Given the description of an element on the screen output the (x, y) to click on. 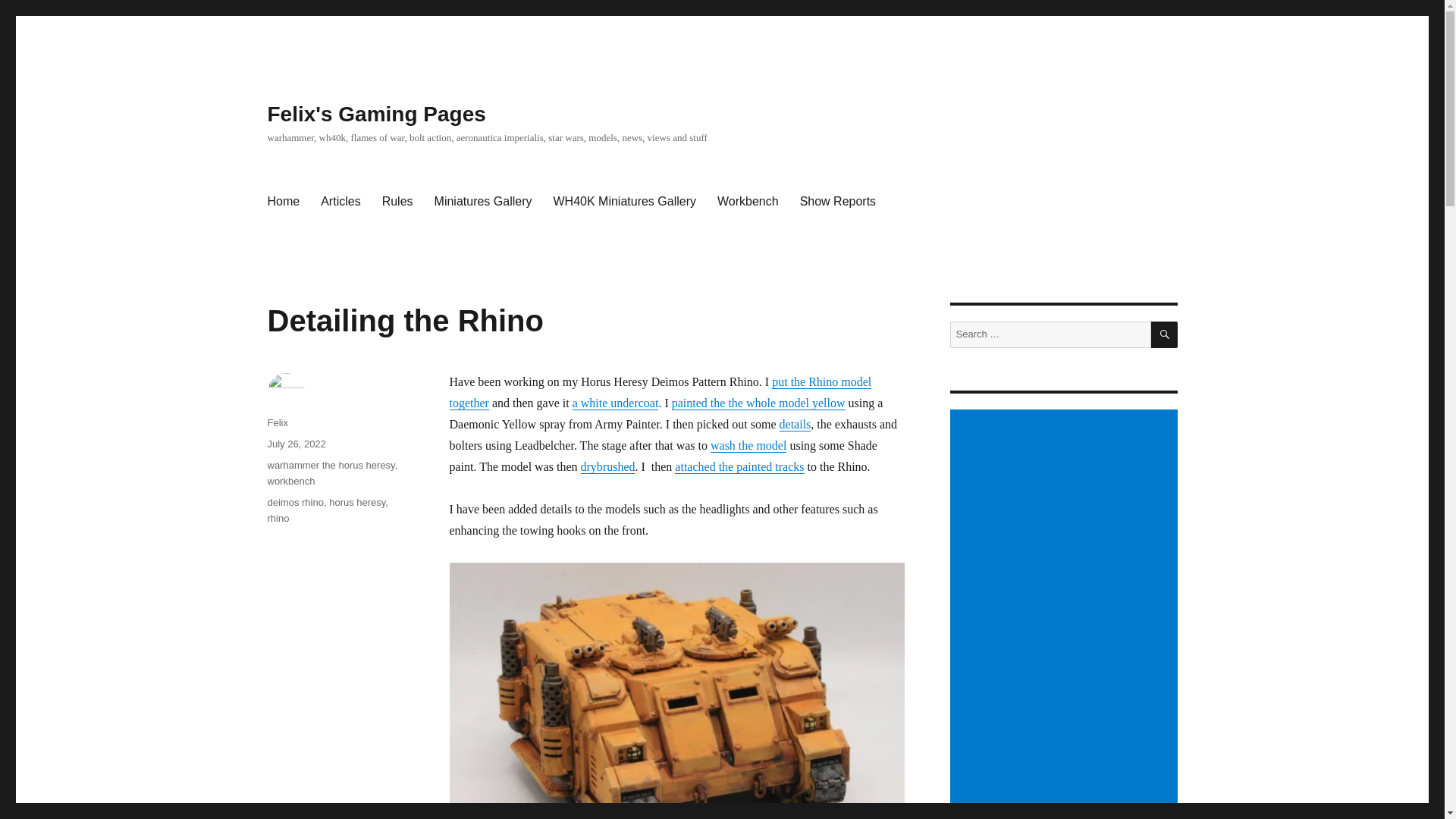
July 26, 2022 (295, 443)
wash the model (748, 445)
rhino (277, 518)
details (794, 423)
workbench (290, 480)
Home (283, 201)
put the Rhino model together (659, 392)
drybrushed (607, 466)
horus heresy (357, 501)
Workbench (747, 201)
